Given the description of an element on the screen output the (x, y) to click on. 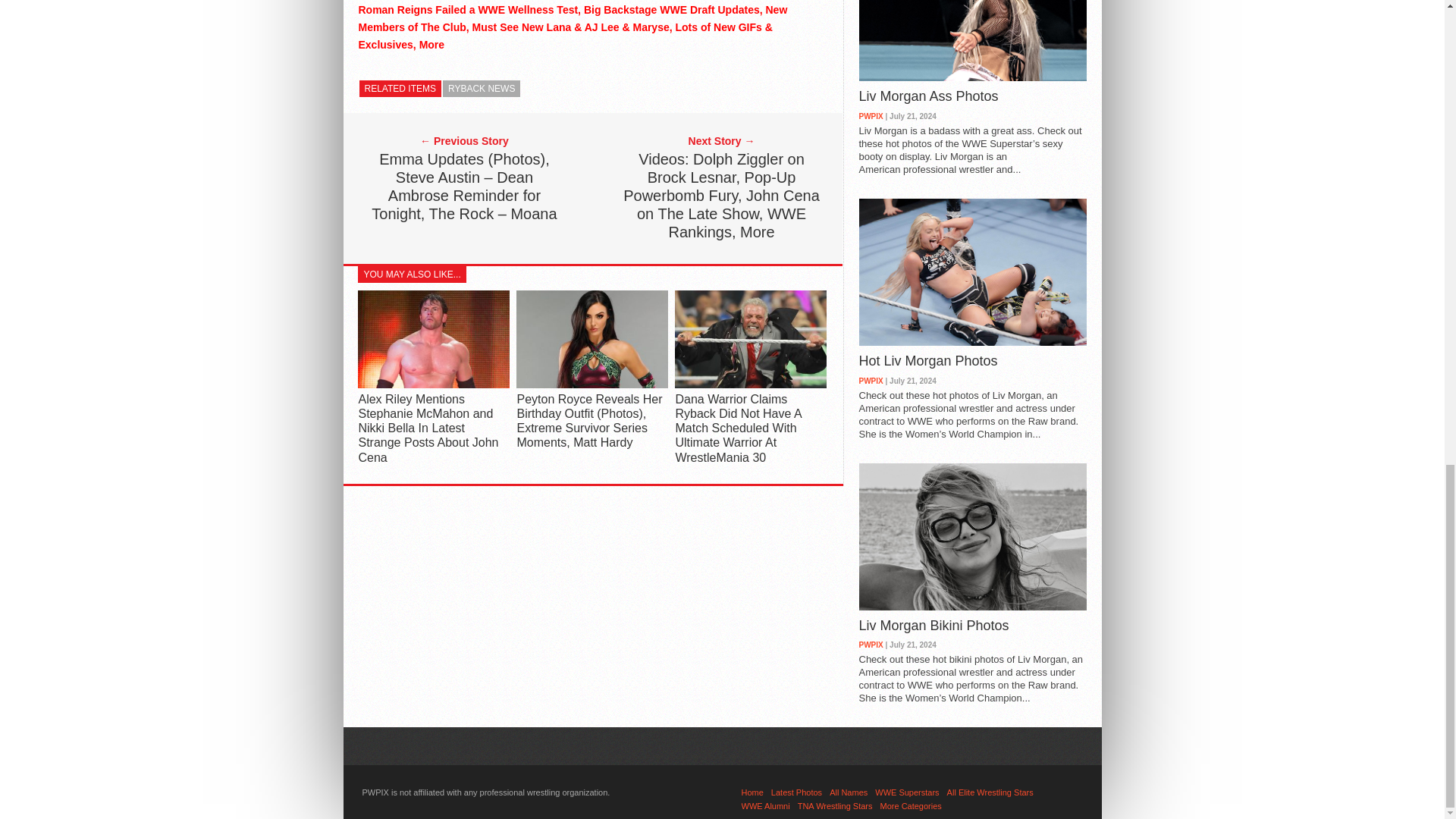
RYBACK NEWS (480, 88)
